Given the description of an element on the screen output the (x, y) to click on. 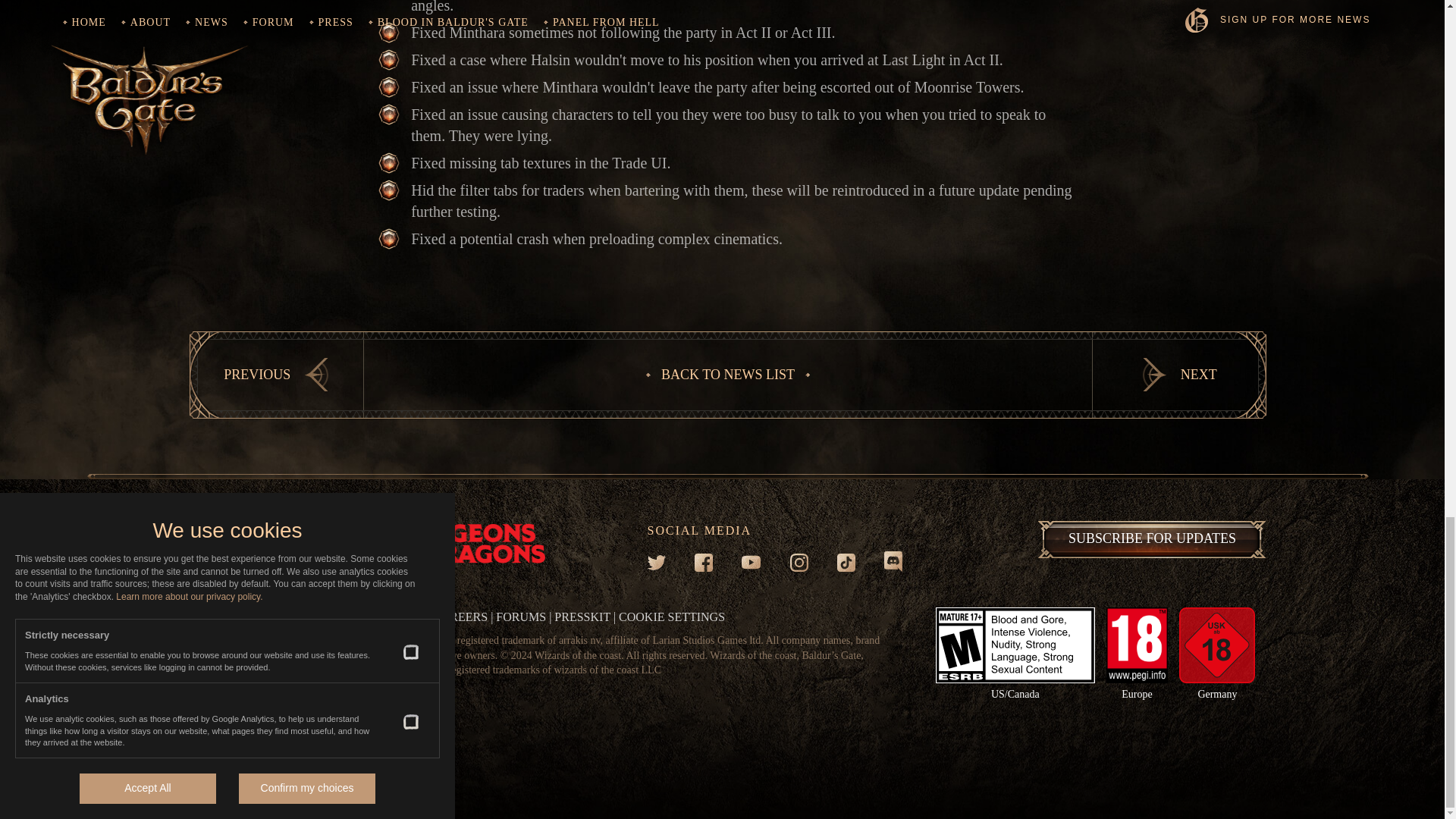
SUBSCRIBE FOR UPDATES (1151, 538)
PREVIOUS (276, 374)
BACK TO NEWS LIST (728, 374)
FAN CONTENT POLICY (360, 616)
COOKIE SETTINGS (671, 616)
FORUMS (521, 616)
CAREERS (459, 616)
NEXT (1179, 374)
PRIVACY POLICY (237, 616)
PRESSKIT (582, 616)
